Given the description of an element on the screen output the (x, y) to click on. 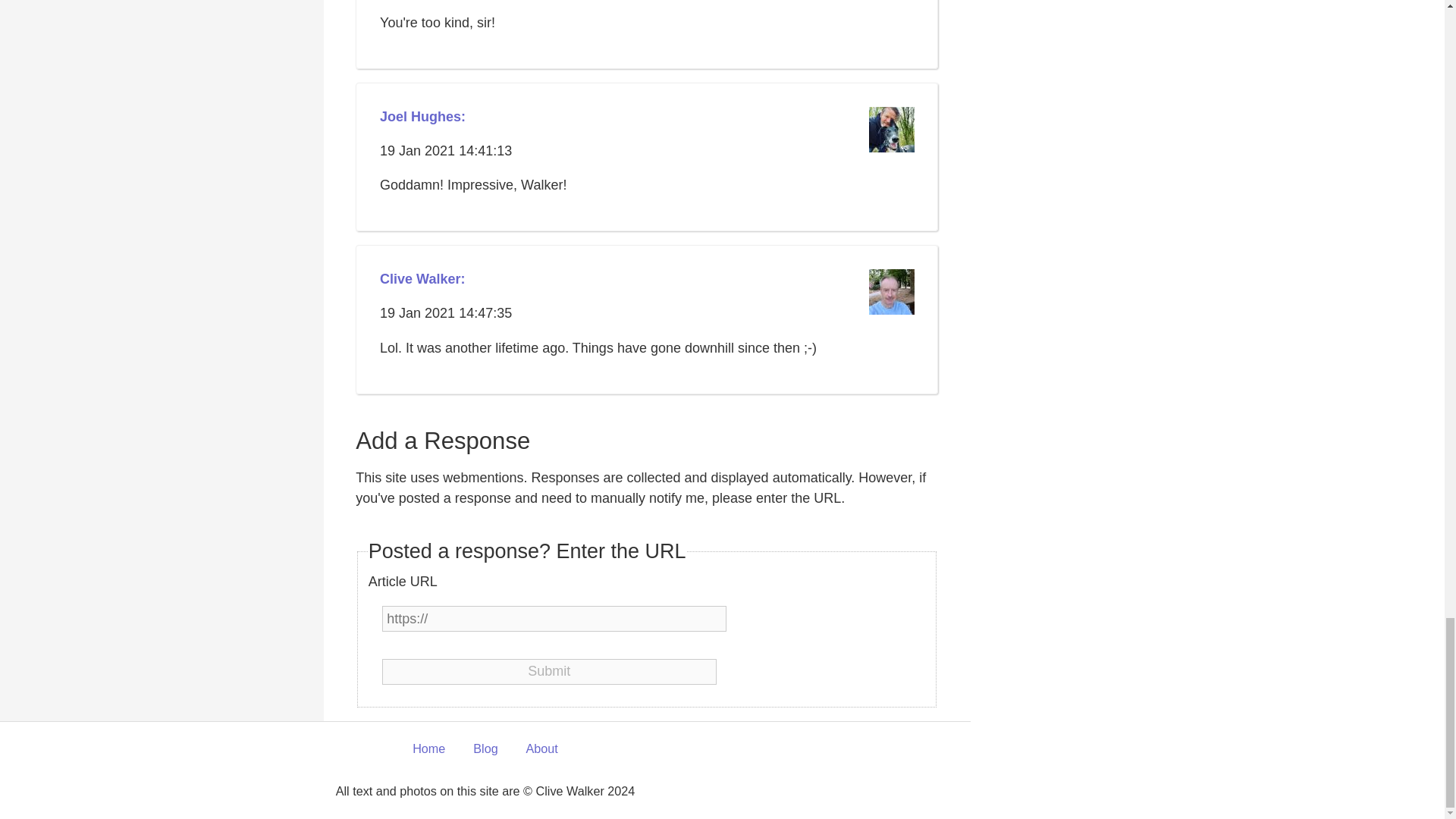
Submit (548, 671)
Joel Hughes: (422, 117)
Clive Walker: (422, 279)
Submit (548, 671)
Blog (485, 749)
About (541, 749)
Home (428, 749)
